Given the description of an element on the screen output the (x, y) to click on. 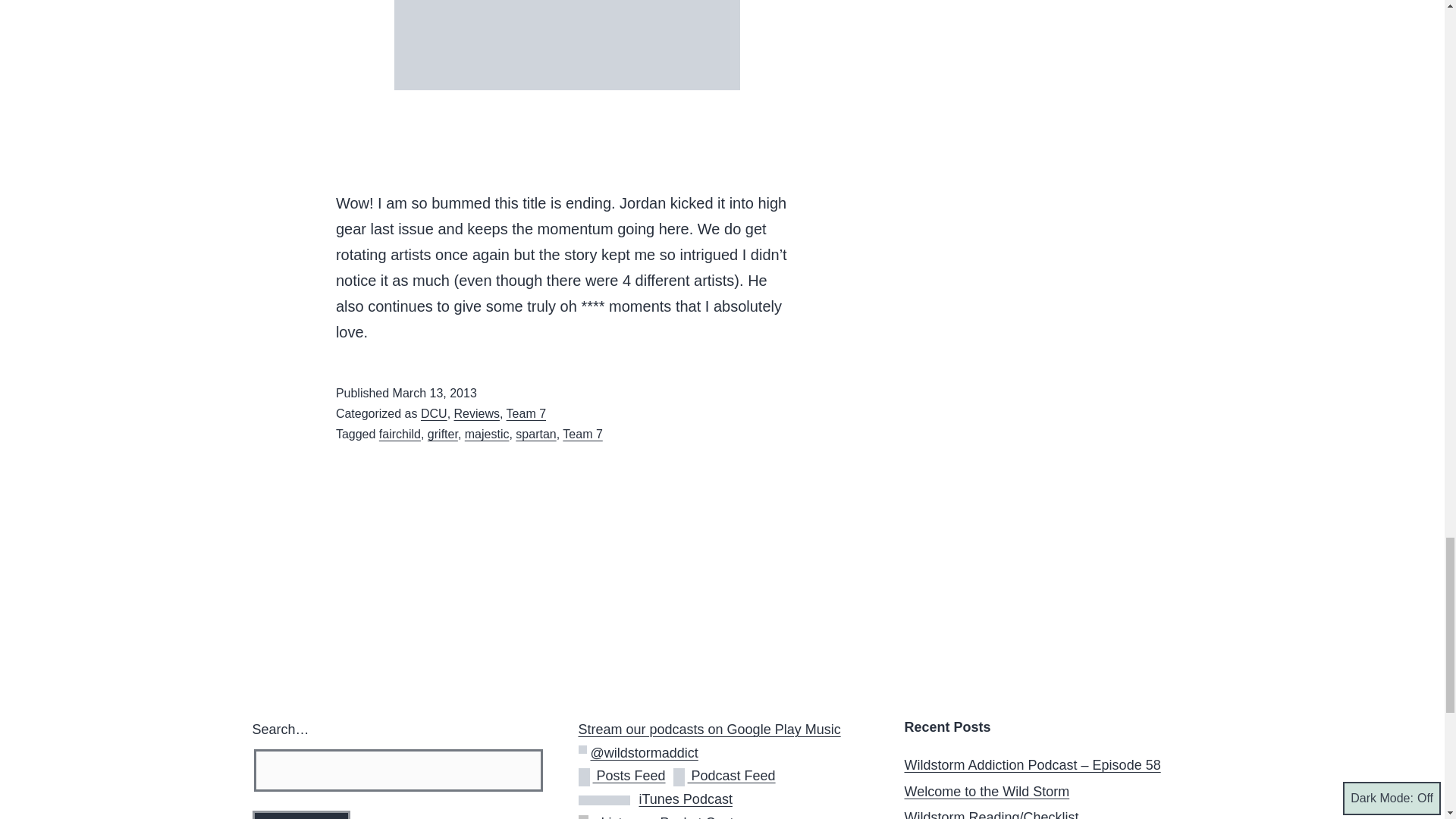
Podcast RSS Feed (724, 775)
Search (300, 814)
Search (300, 814)
Listen on Pocket Casts (658, 816)
iTunes Podcast Feed (655, 798)
Listen on Pocket Casts (587, 816)
Posts RSS Feed (625, 775)
